Given the description of an element on the screen output the (x, y) to click on. 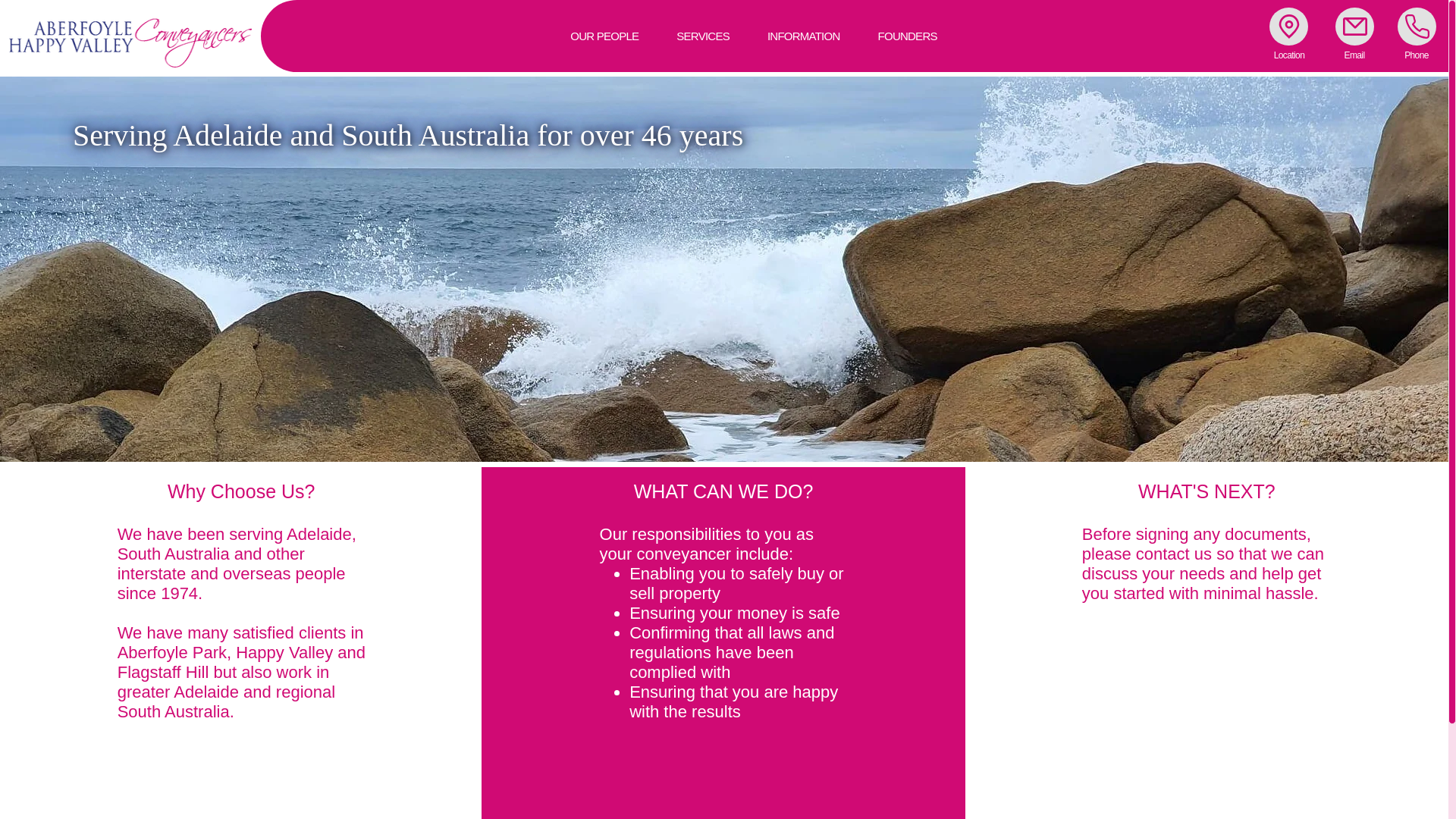
FOUNDERS (907, 36)
OUR PEOPLE (604, 36)
INFORMATION (803, 36)
Aberfoyle Happy Valley Conveyancers Logo (129, 37)
SERVICES (753, 36)
